Given the description of an element on the screen output the (x, y) to click on. 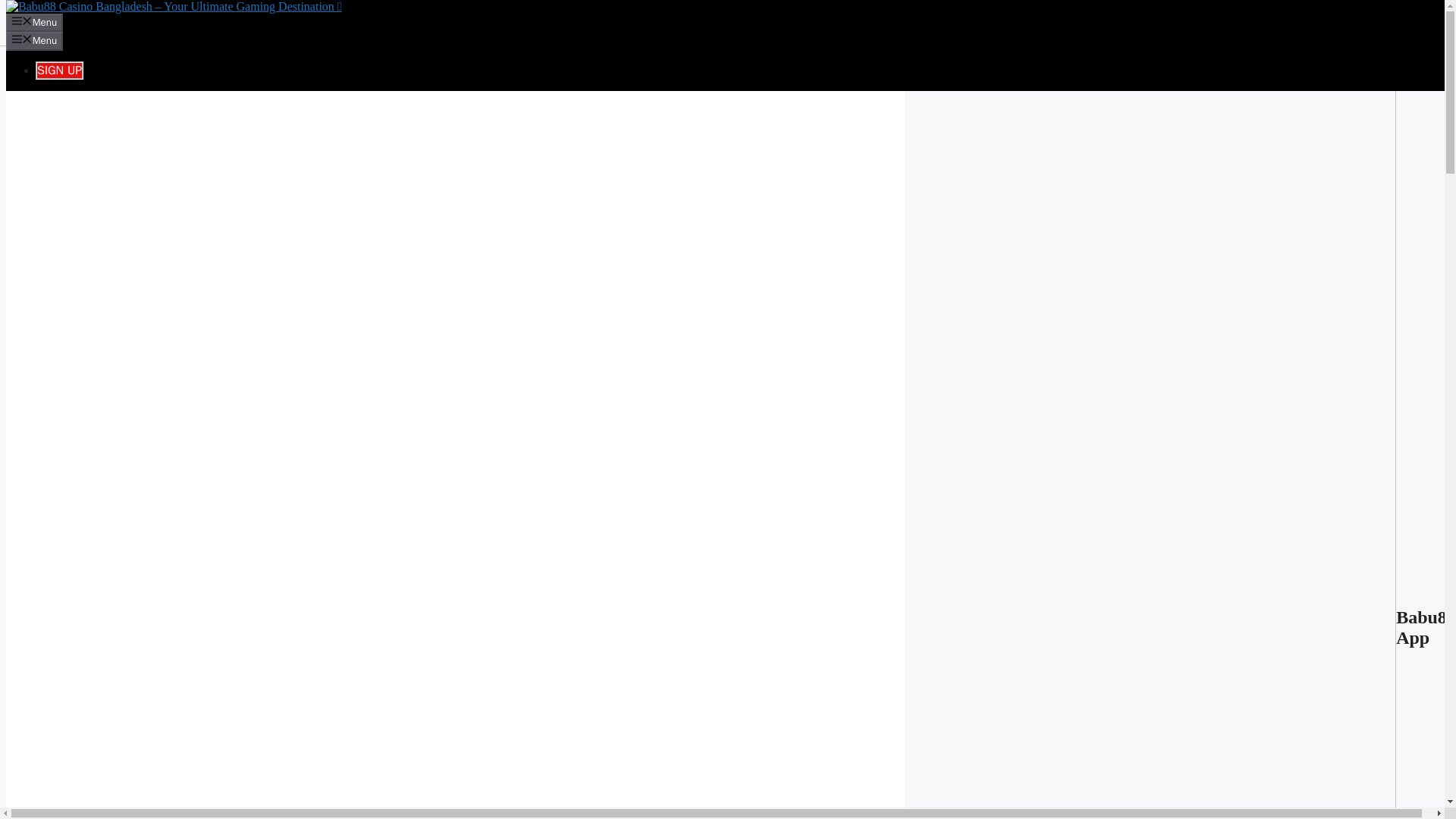
Menu (33, 40)
Skip to content (42, 25)
SIGN UP (58, 70)
Skip to content (42, 25)
Menu (33, 22)
